Given the description of an element on the screen output the (x, y) to click on. 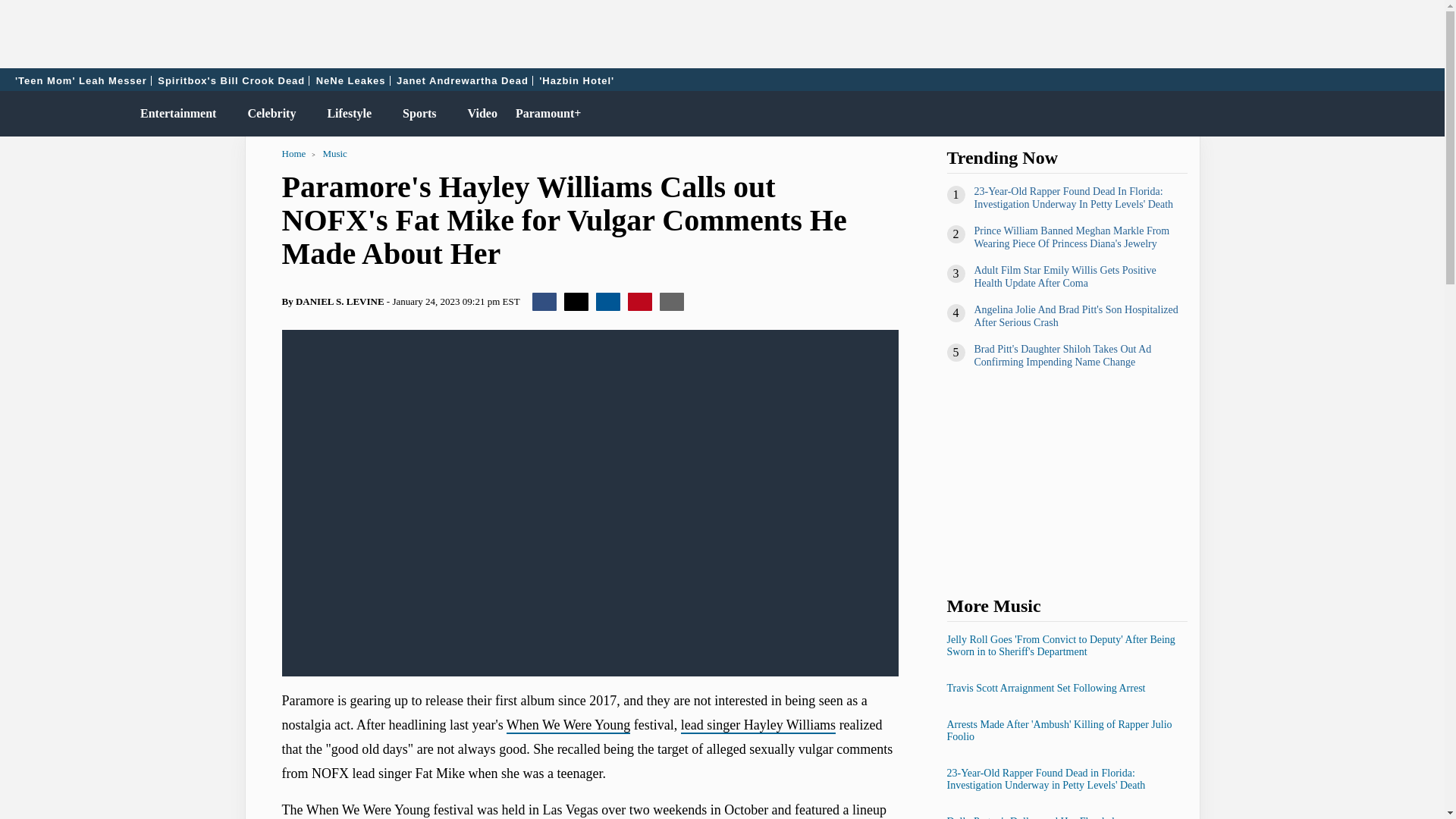
'Teen Mom' Leah Messer (81, 80)
'Hazbin Hotel' (576, 80)
Dark Mode (1394, 113)
Entertainment (175, 113)
Lifestyle (345, 113)
Video (479, 113)
Search (1426, 114)
NeNe Leakes (351, 80)
Celebrity (267, 113)
Sports (416, 113)
Spiritbox's Bill Crook Dead (231, 80)
Janet Andrewartha Dead (462, 80)
